Given the description of an element on the screen output the (x, y) to click on. 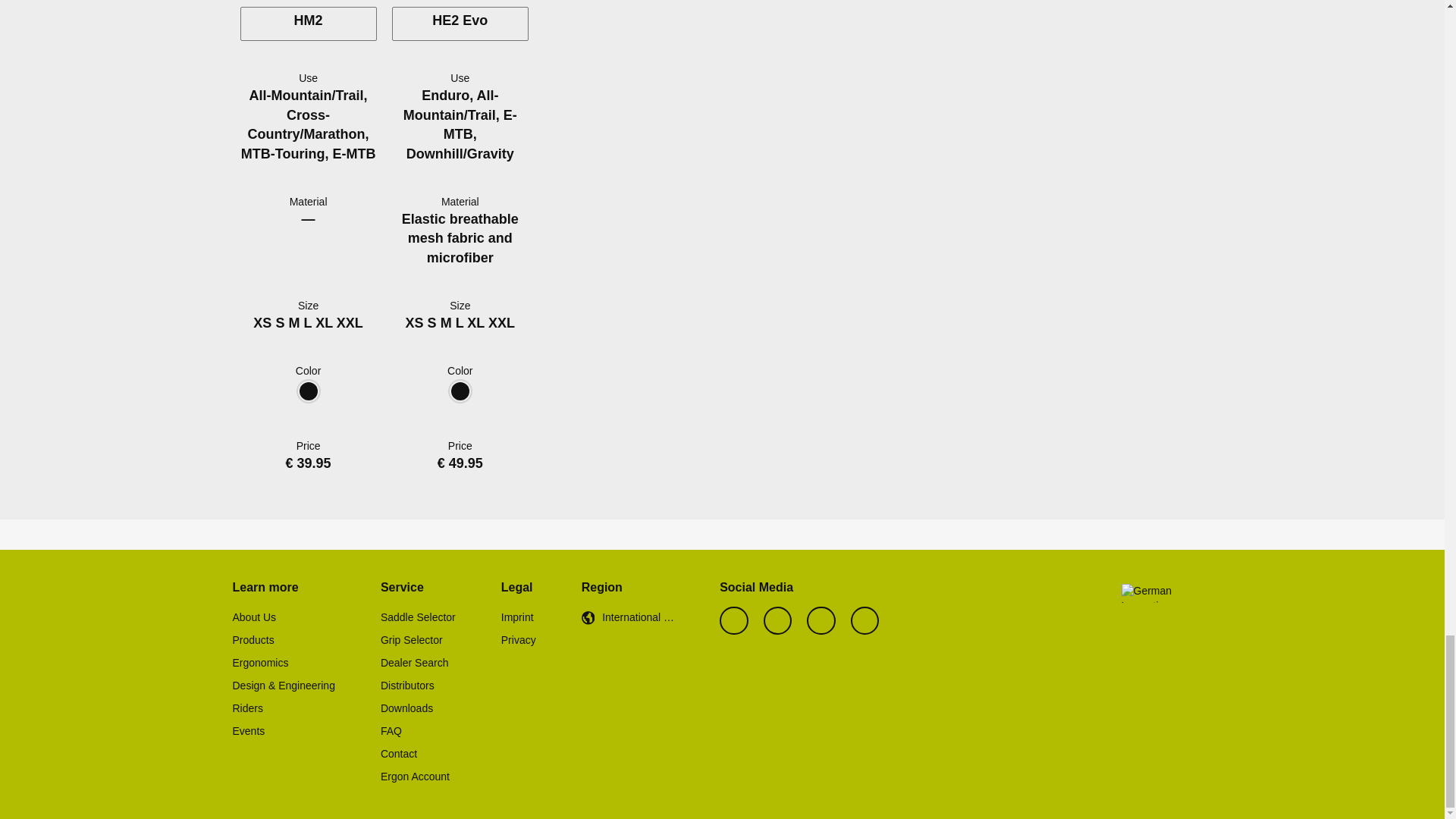
Events (247, 731)
HM2 (307, 23)
Ergonomics (259, 662)
XS (261, 322)
XL (324, 322)
black (459, 398)
HE2 Evo (459, 23)
XXL (349, 322)
Products (252, 640)
Saddle Selector (417, 617)
XS (414, 322)
black (308, 398)
Riders (246, 708)
black (459, 398)
XL (475, 322)
